Given the description of an element on the screen output the (x, y) to click on. 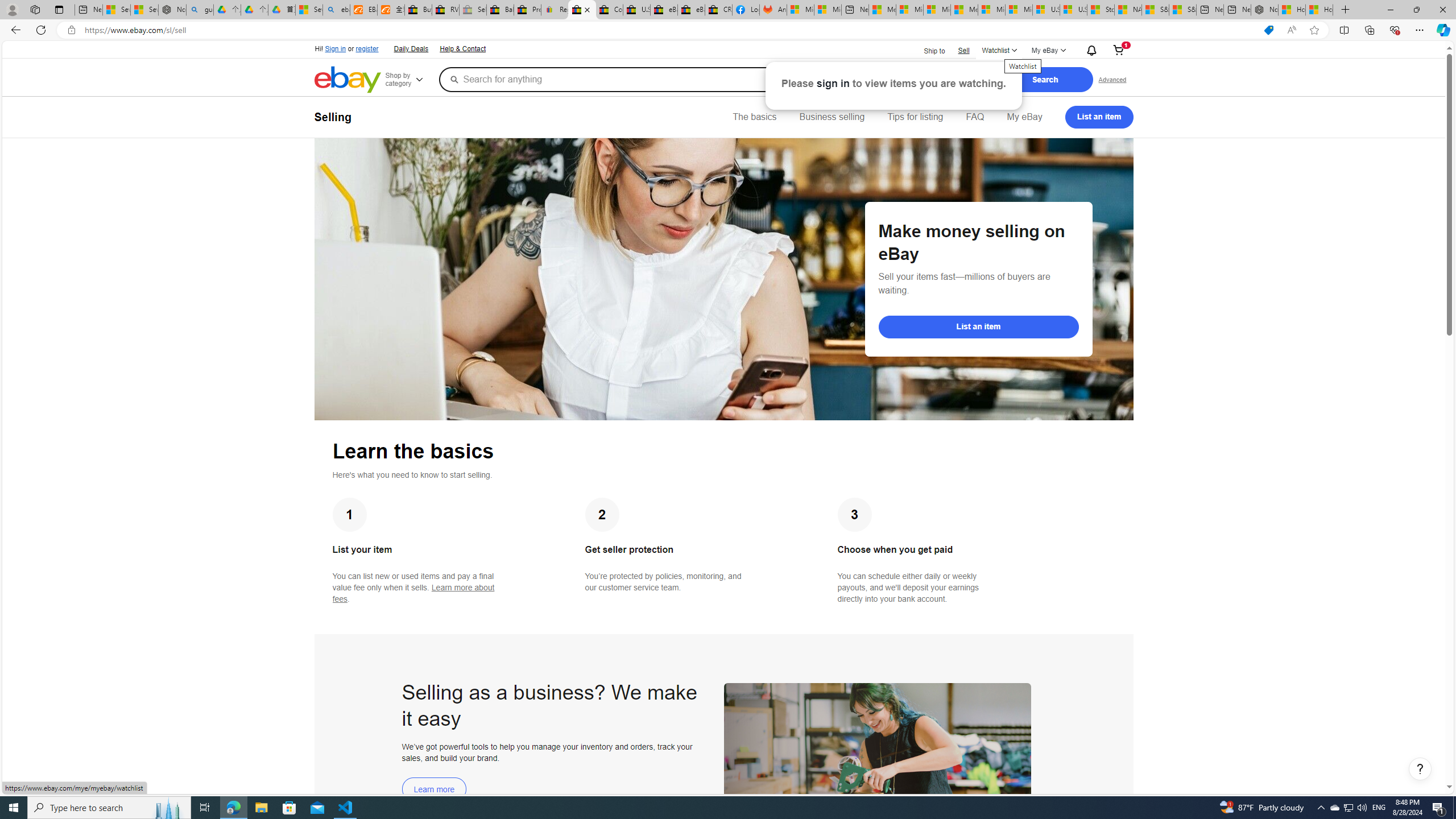
Business selling (831, 116)
FAQ (974, 116)
Help & Contact (462, 49)
eBay Inc. Reports Third Quarter 2023 Results (691, 9)
Watchlist (998, 50)
Select a category for search (944, 78)
Sell (963, 49)
Microsoft account | Home (936, 9)
